Given the description of an element on the screen output the (x, y) to click on. 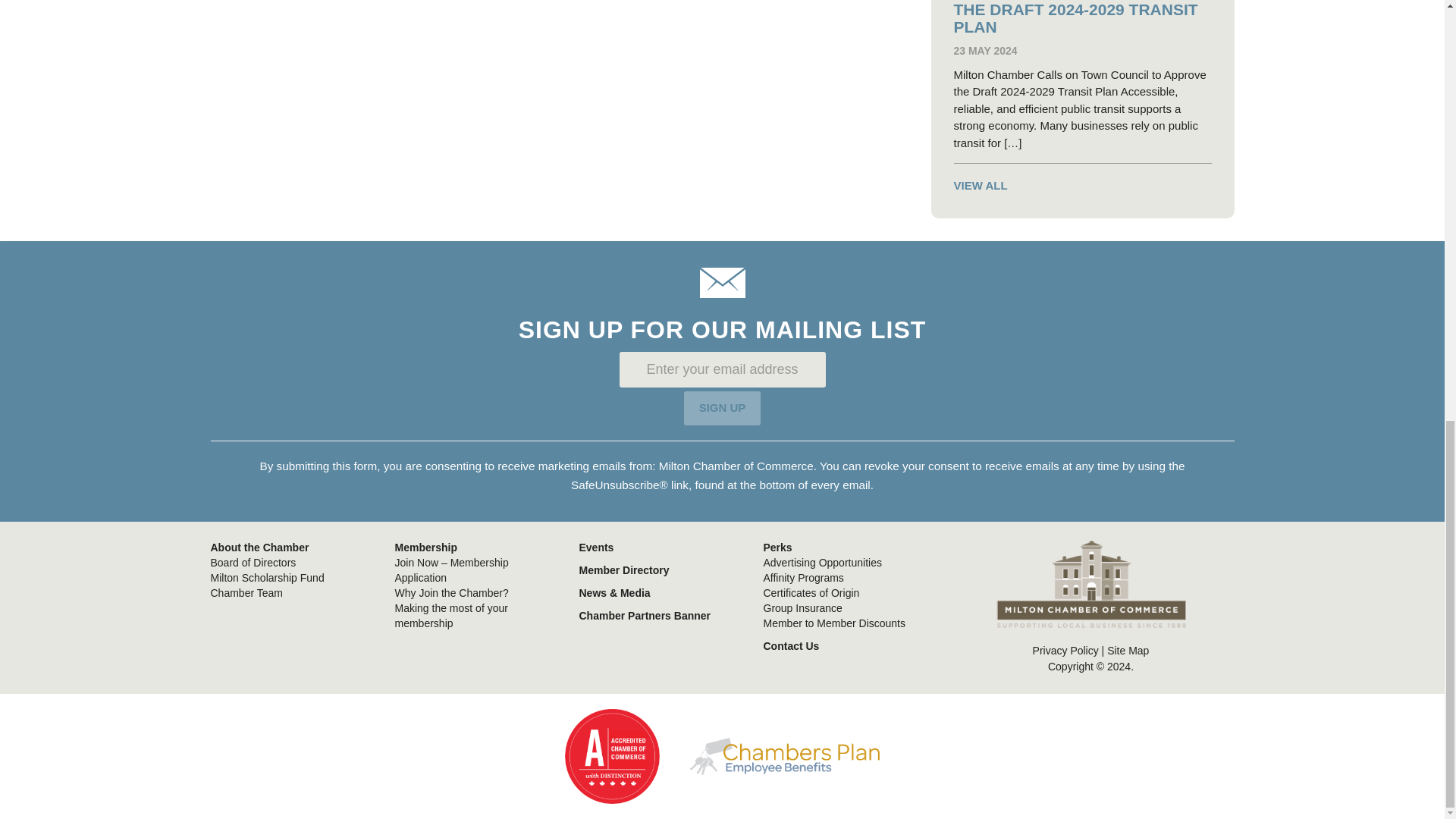
Sign Up (722, 408)
